Given the description of an element on the screen output the (x, y) to click on. 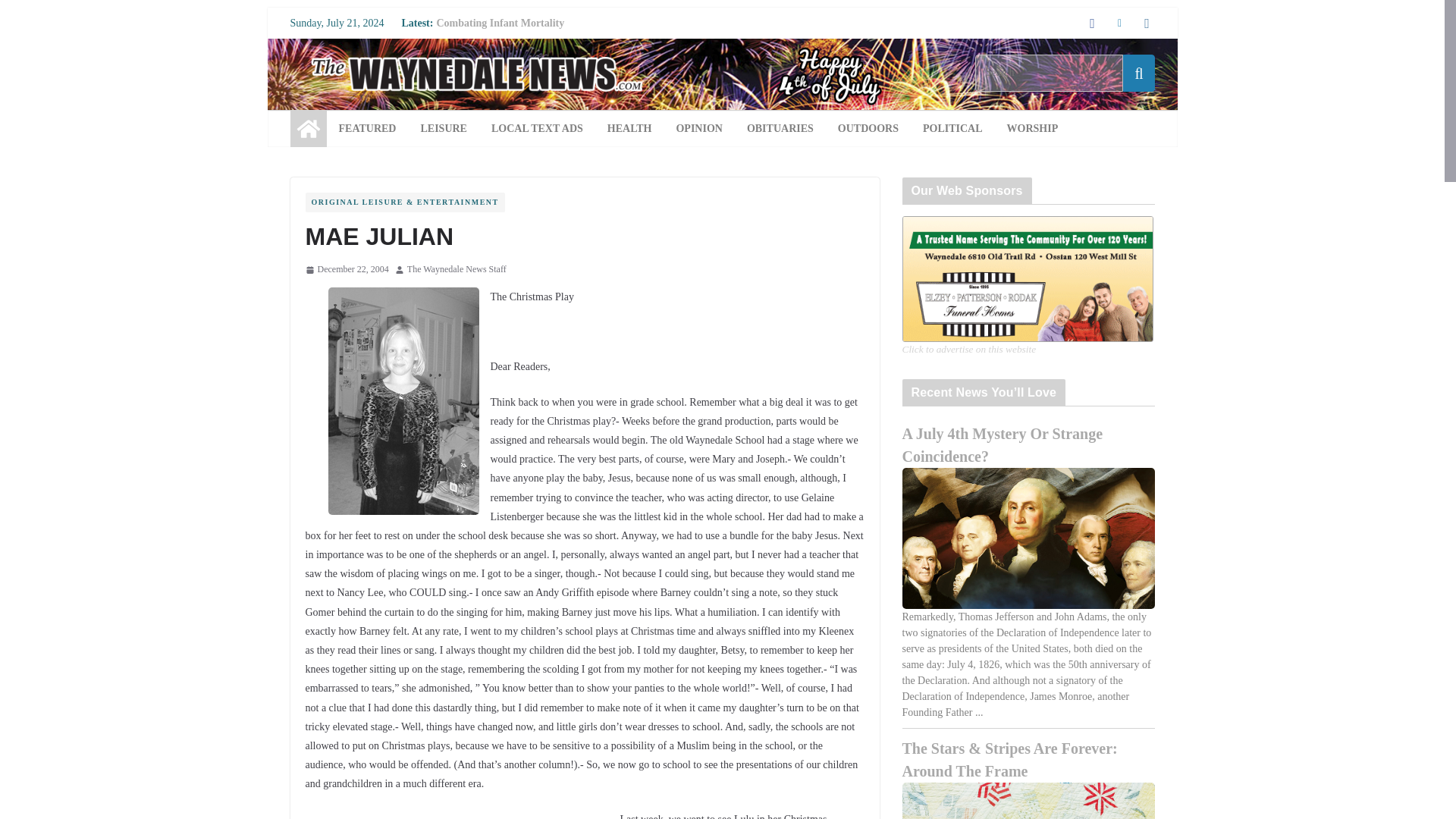
The Waynedale News (307, 128)
FEATURED (366, 128)
LOCAL TEXT ADS (537, 128)
Click to advertise on this website (486, 817)
The Waynedale News (721, 48)
The Waynedale News Staff (456, 269)
December 22, 2004 (346, 269)
OBITUARIES (779, 128)
OPINION (698, 128)
Combating Infant Mortality (499, 22)
Combating Infant Mortality (499, 22)
5:00 am (346, 269)
WORSHIP (1032, 128)
POLITICAL (952, 128)
